Given the description of an element on the screen output the (x, y) to click on. 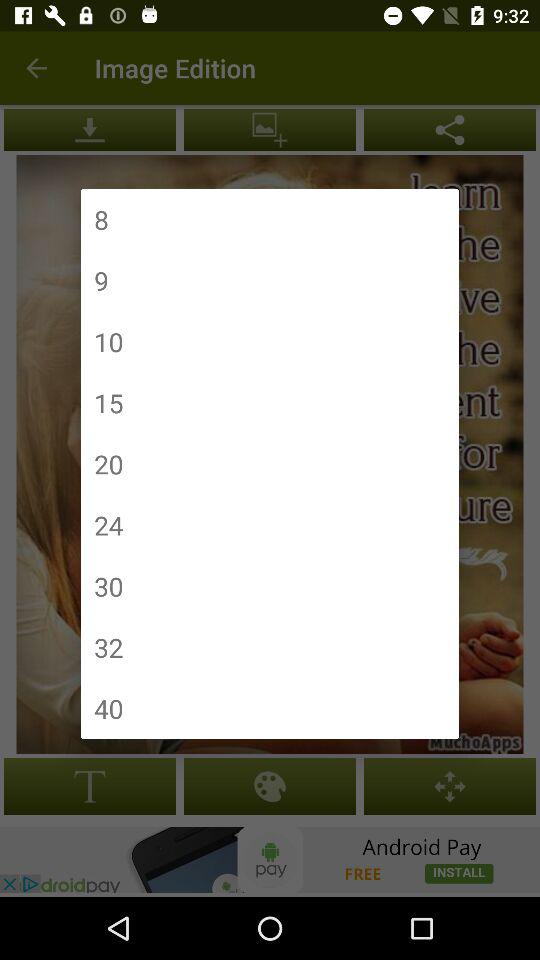
press the item below 30 icon (108, 647)
